Given the description of an element on the screen output the (x, y) to click on. 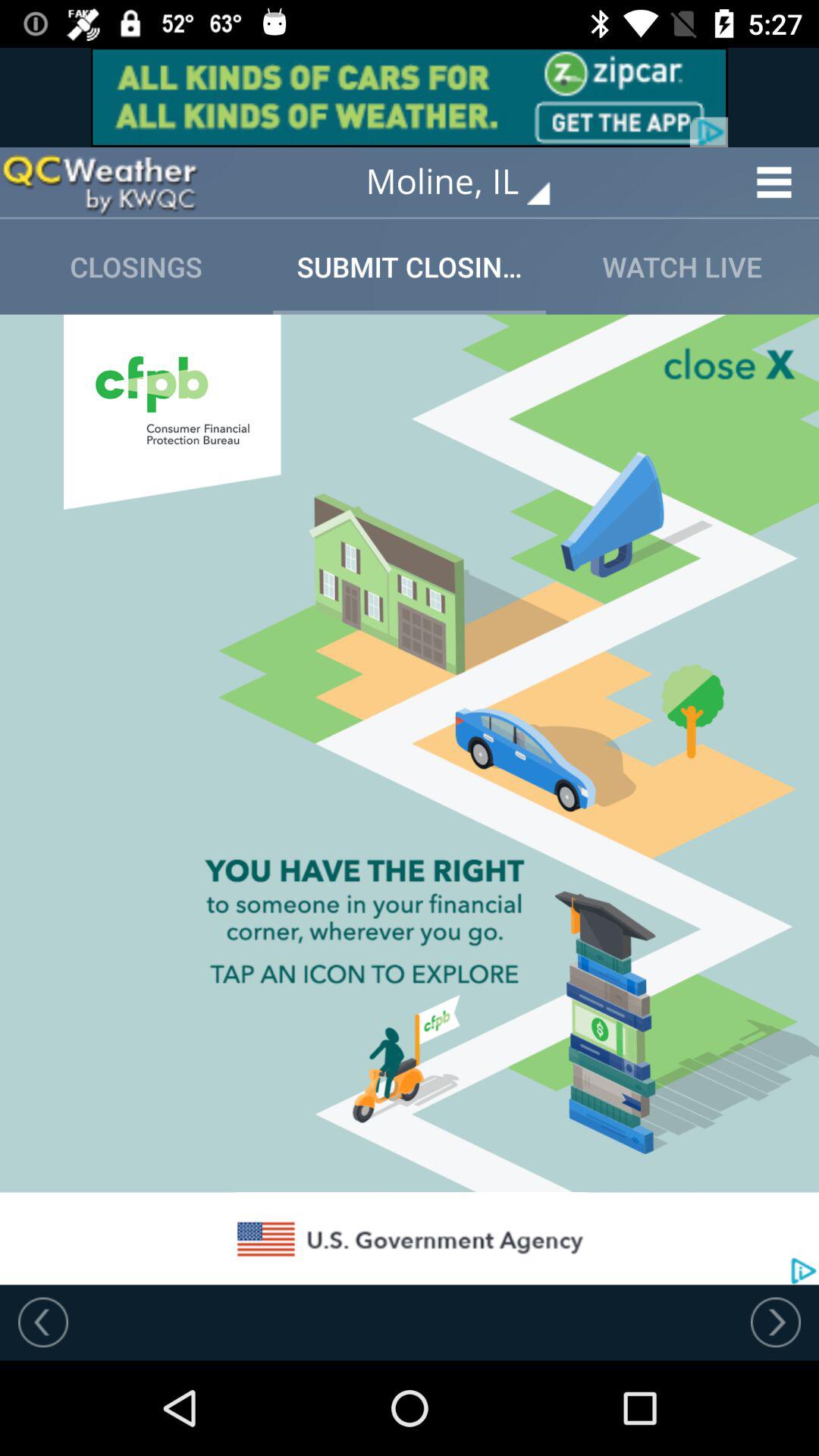
page forward (775, 1322)
